Given the description of an element on the screen output the (x, y) to click on. 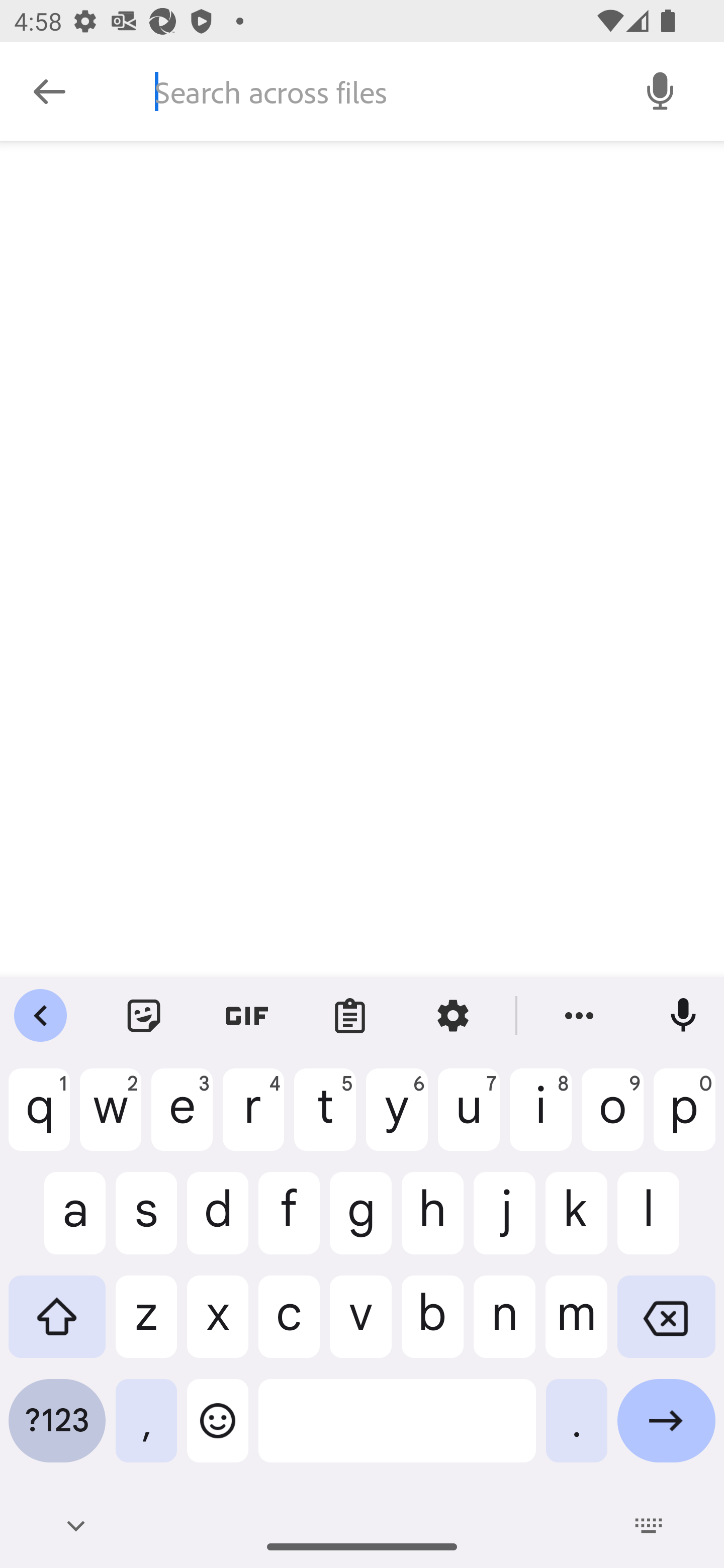
Navigate up (49, 91)
Voice search (660, 90)
Search across files (375, 91)
